Given the description of an element on the screen output the (x, y) to click on. 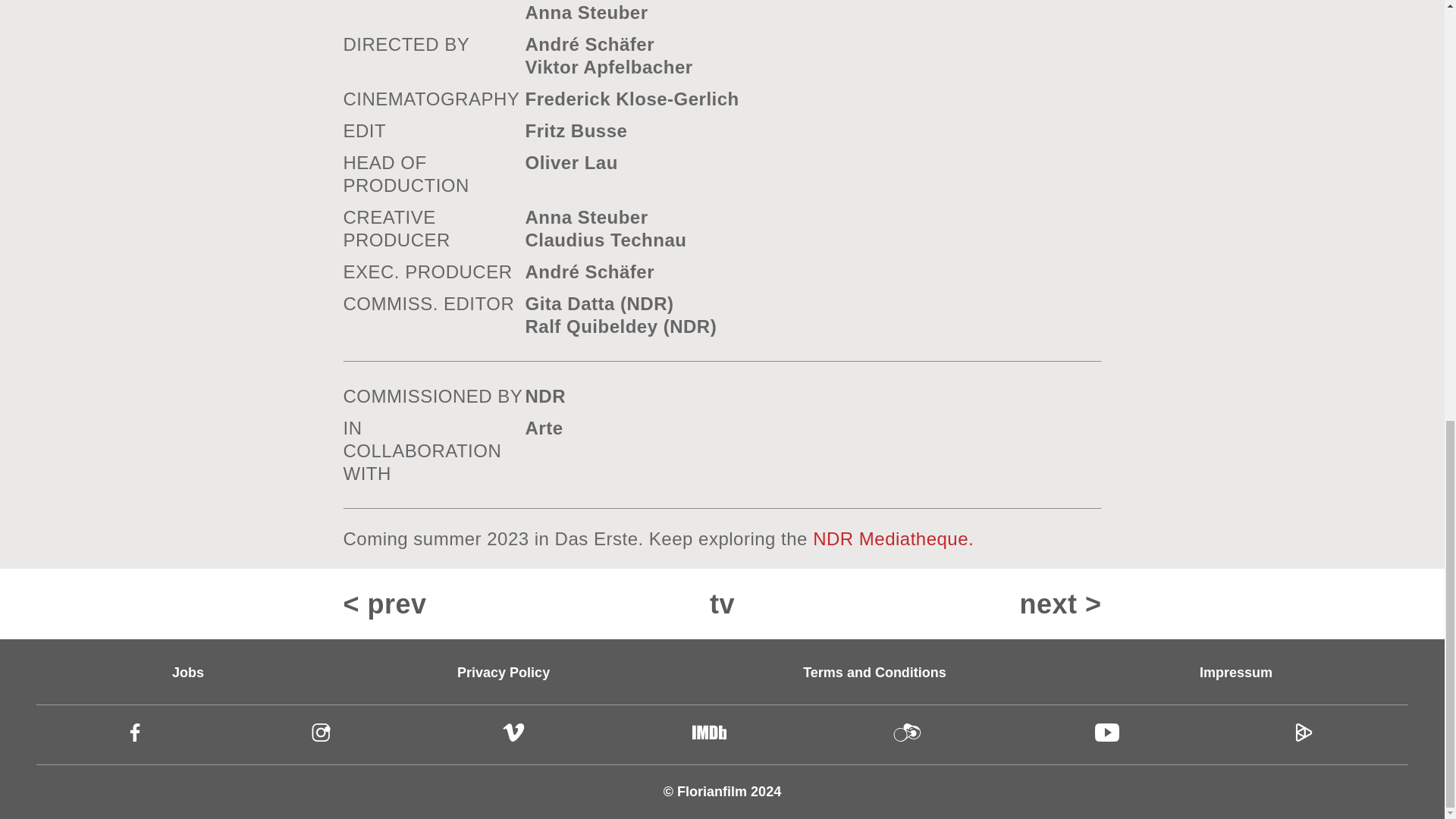
POKER FOR A NEW WORLD ORDER (525, 603)
Crew (1106, 732)
Impressum (1235, 672)
NDR Mediatheque. (893, 538)
SIDNEY POITIER (918, 603)
Terms and Conditions (874, 672)
Jobs (187, 672)
Privacy Policy (503, 672)
